Given the description of an element on the screen output the (x, y) to click on. 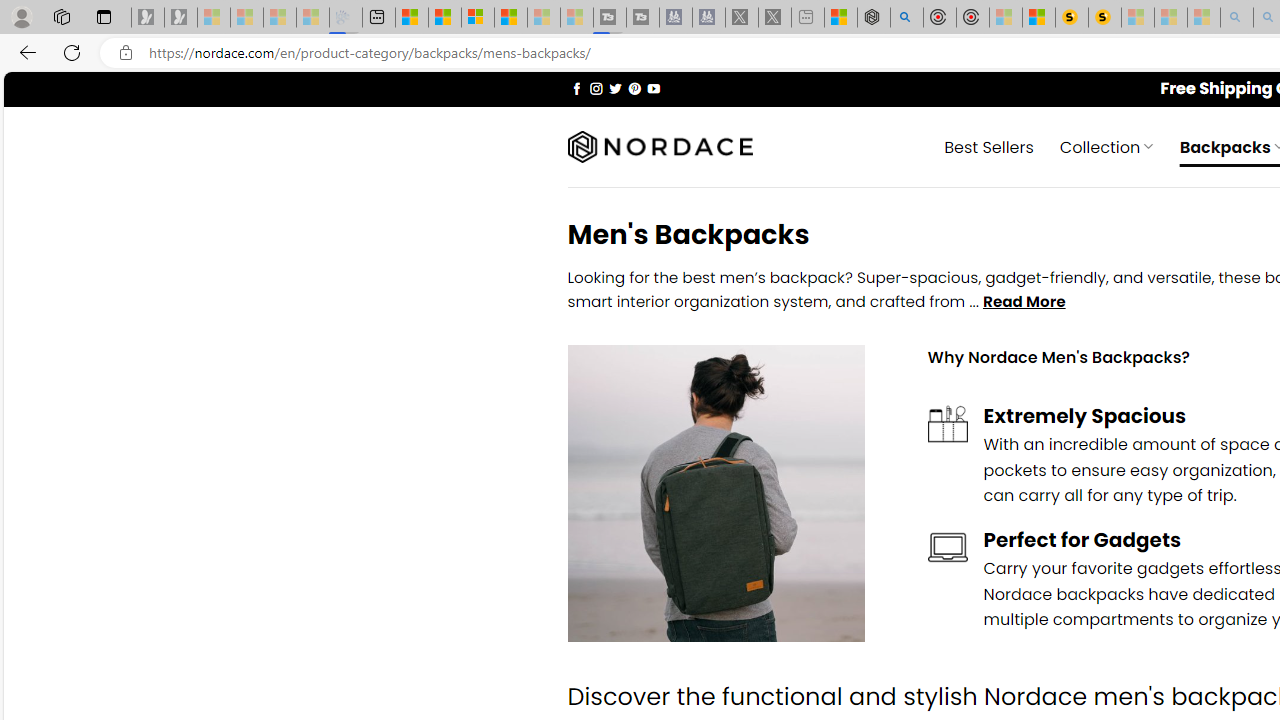
Follow on Facebook (576, 88)
  Best Sellers (989, 146)
Microsoft Start - Sleeping (543, 17)
Read More (1023, 301)
Nordace - Summer Adventures 2024 (873, 17)
Follow on Twitter (615, 88)
Nordace (659, 147)
